Given the description of an element on the screen output the (x, y) to click on. 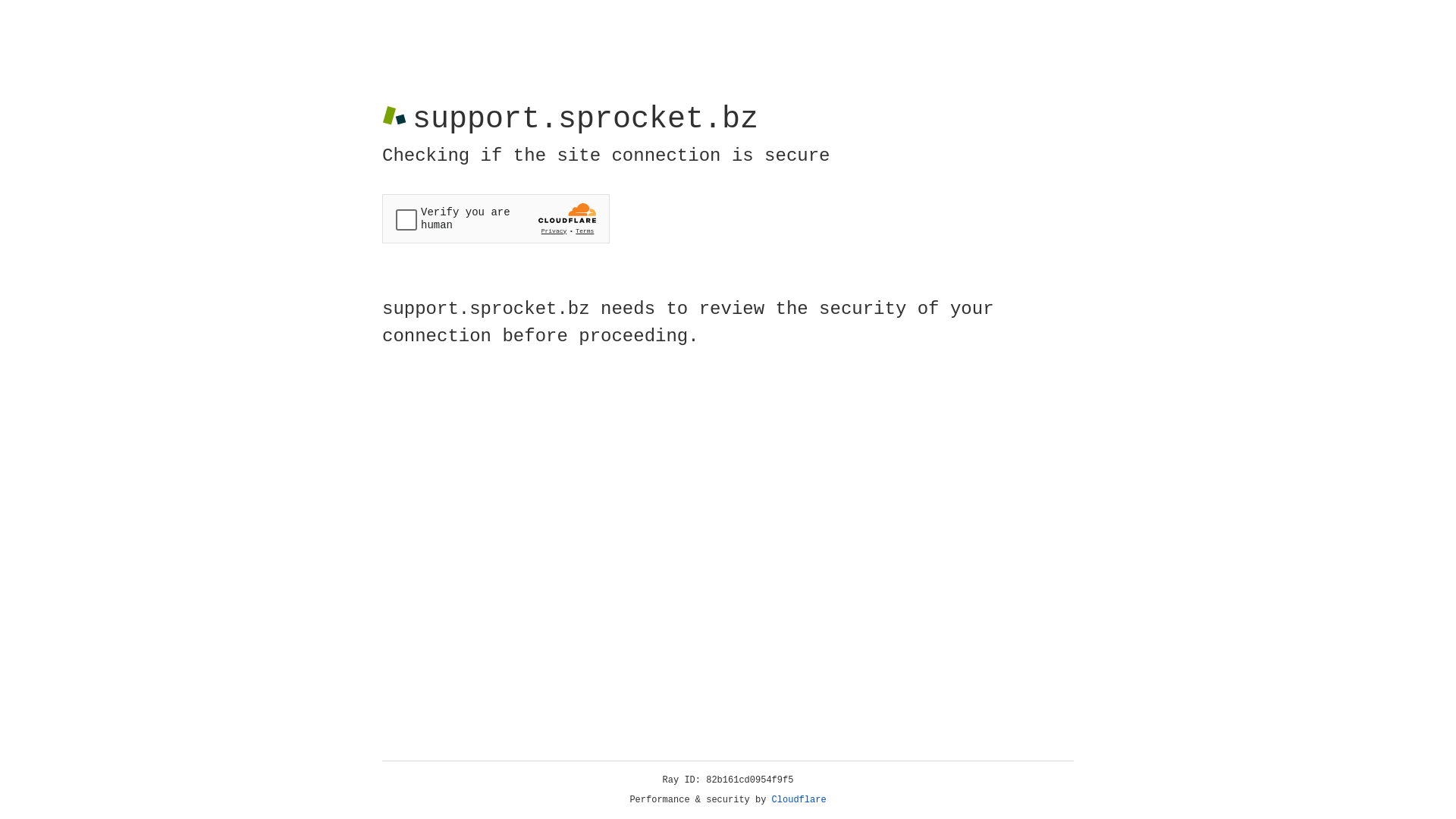
Widget containing a Cloudflare security challenge Element type: hover (495, 218)
Cloudflare Element type: text (798, 799)
